Given the description of an element on the screen output the (x, y) to click on. 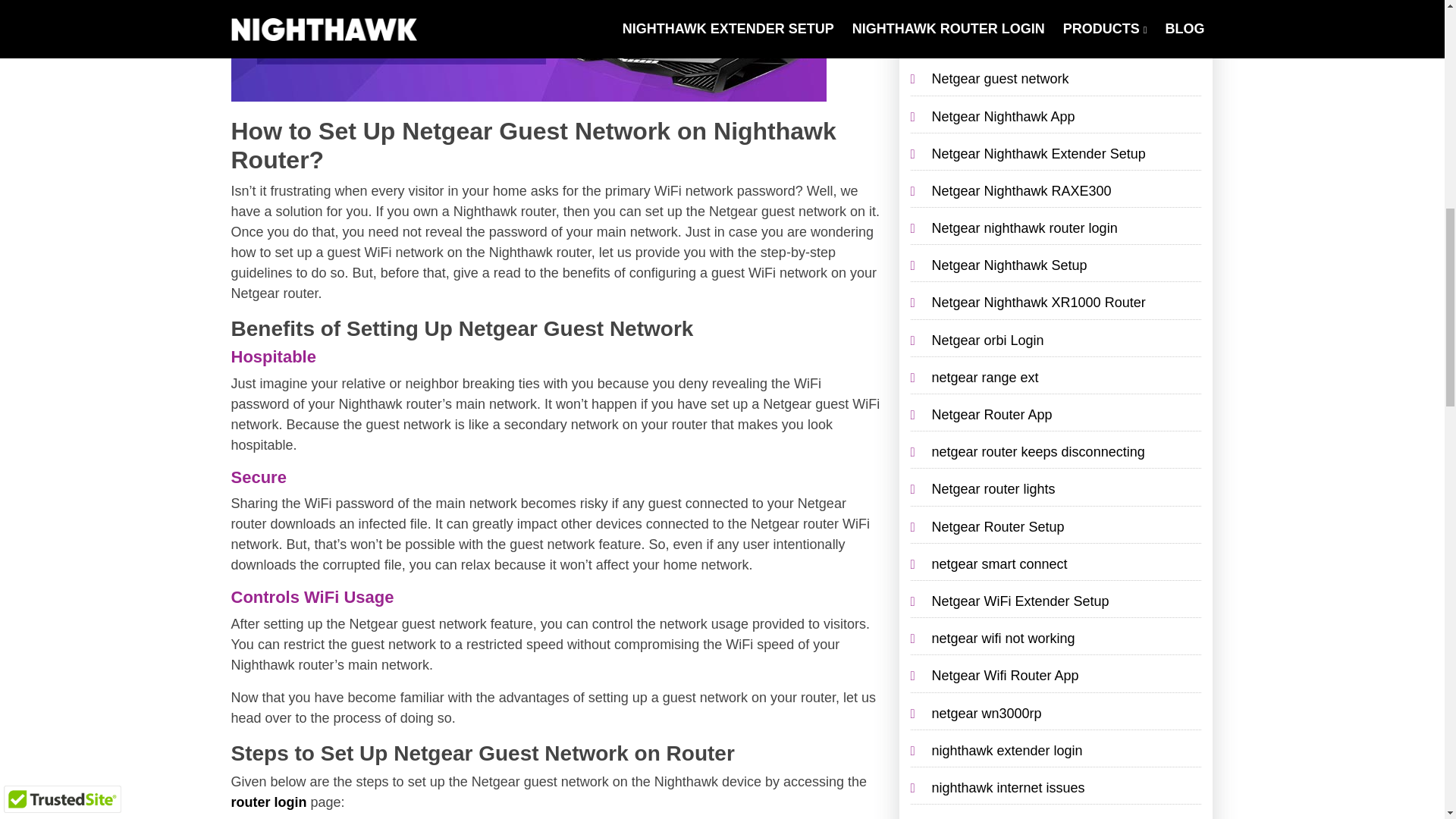
router login (267, 182)
Netgear Nighthawk RAXE300 (1020, 191)
Netgear Nighthawk XR1000 Router (1037, 302)
Netgear Nighthawk Setup (1008, 264)
Netgear guest network (999, 78)
Netgear Genie (975, 41)
Netgear nighthawk router login (1023, 227)
Netgear Nighthawk App (1002, 116)
netgear extender troubleshooting (1031, 6)
Netgear Nighthawk Extender Setup (1037, 153)
